Given the description of an element on the screen output the (x, y) to click on. 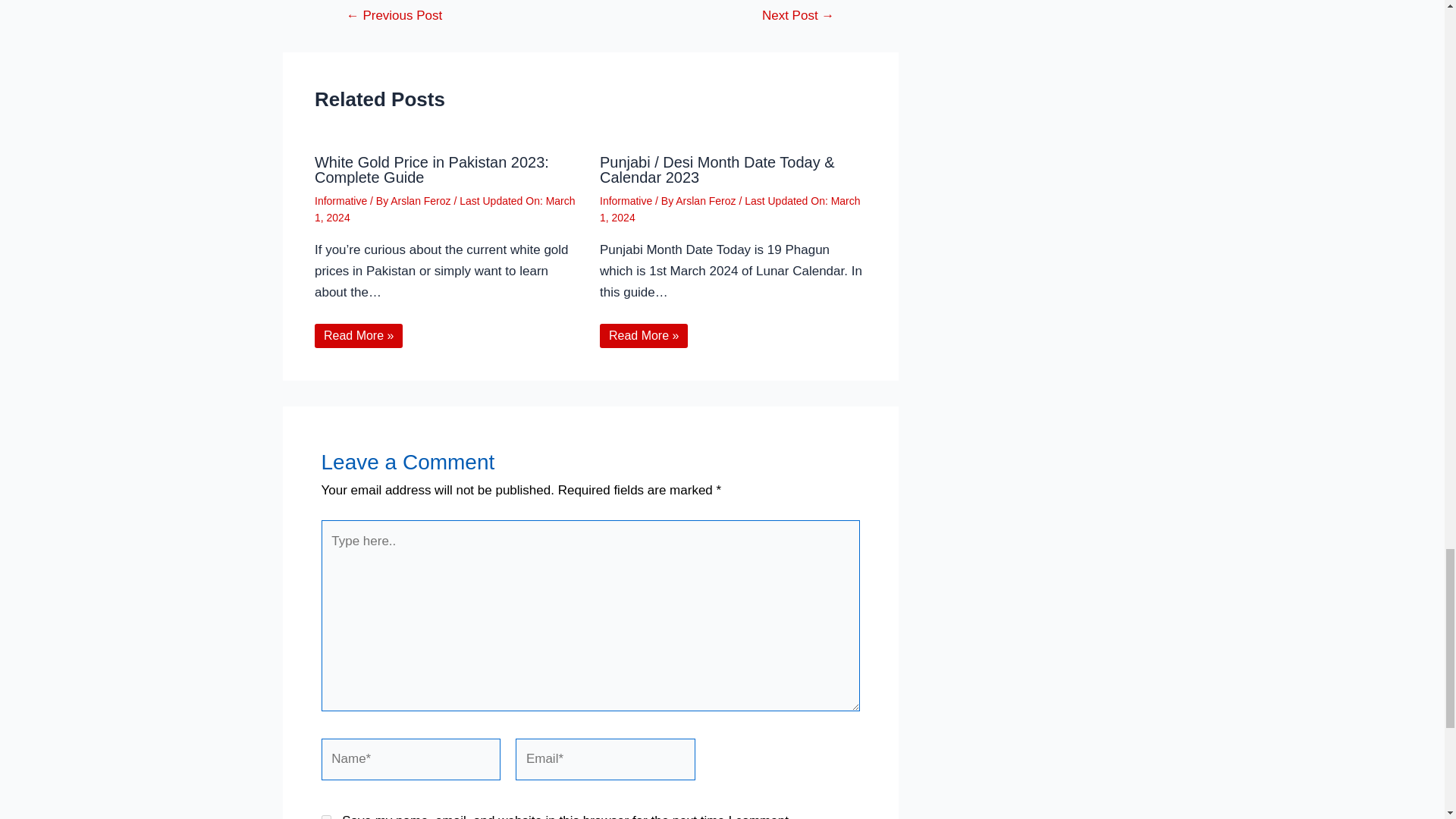
View all posts by Arslan Feroz (421, 200)
View all posts by Arslan Feroz (706, 200)
yes (326, 816)
How To Delete Easypaisa Transaction History? (393, 15)
